Given the description of an element on the screen output the (x, y) to click on. 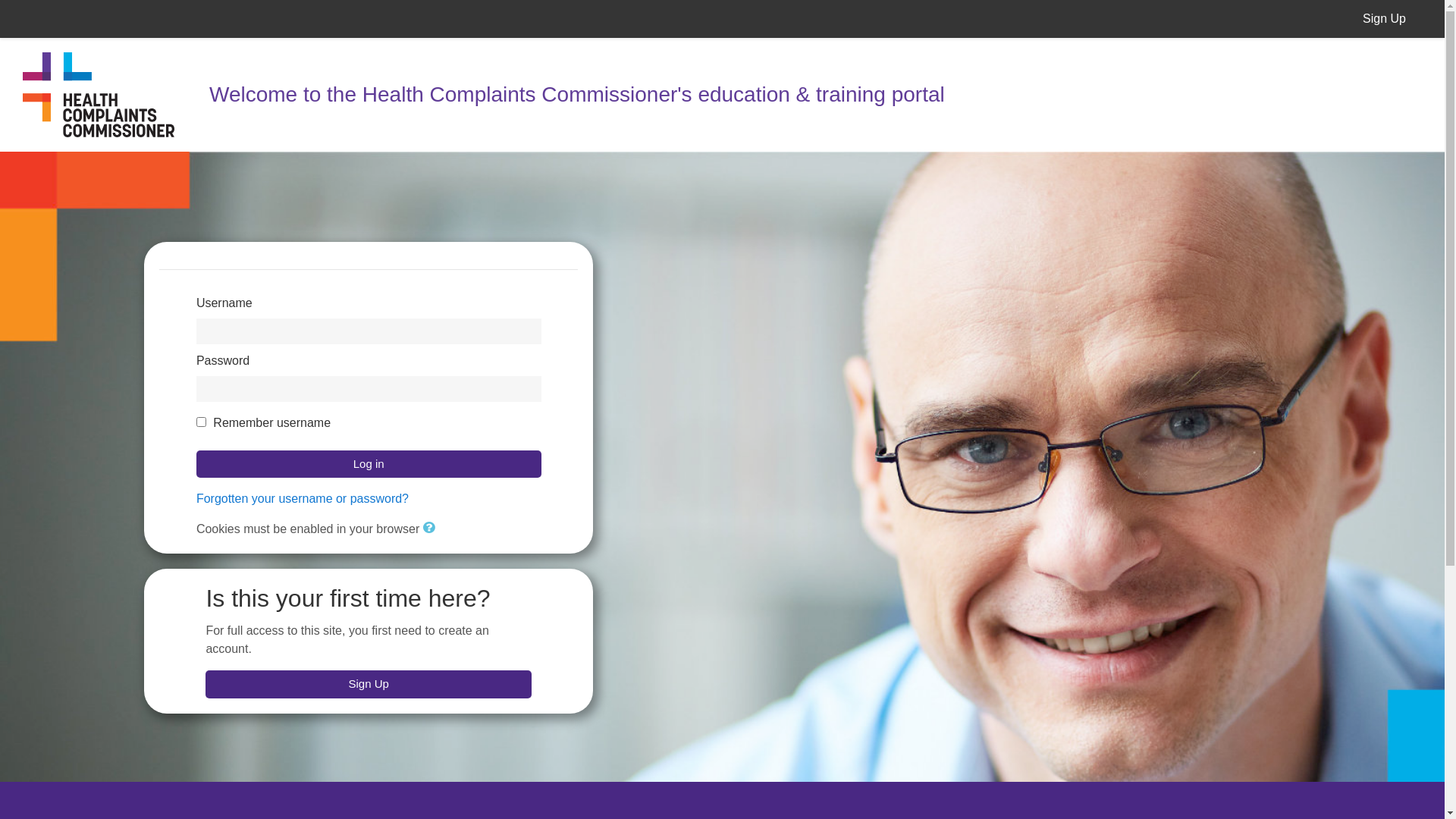
Sign Up Element type: text (1383, 18)
Forgotten your username or password? Element type: text (302, 498)
Log in Element type: text (368, 464)
Sign Up Element type: text (368, 684)
Help with Cookies must be enabled in your browser Element type: hover (429, 526)
